Given the description of an element on the screen output the (x, y) to click on. 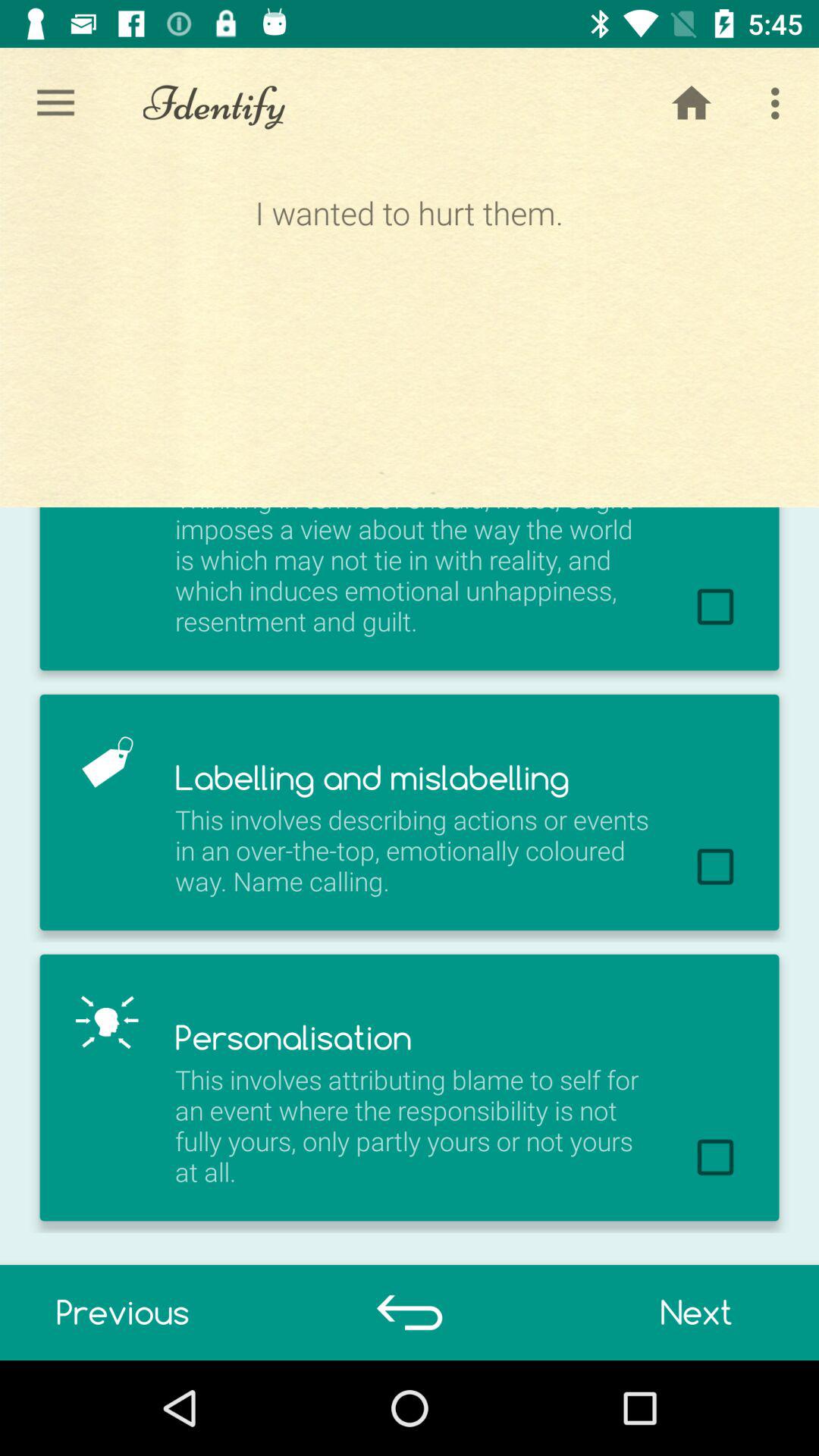
press the icon next to the identify icon (55, 103)
